Given the description of an element on the screen output the (x, y) to click on. 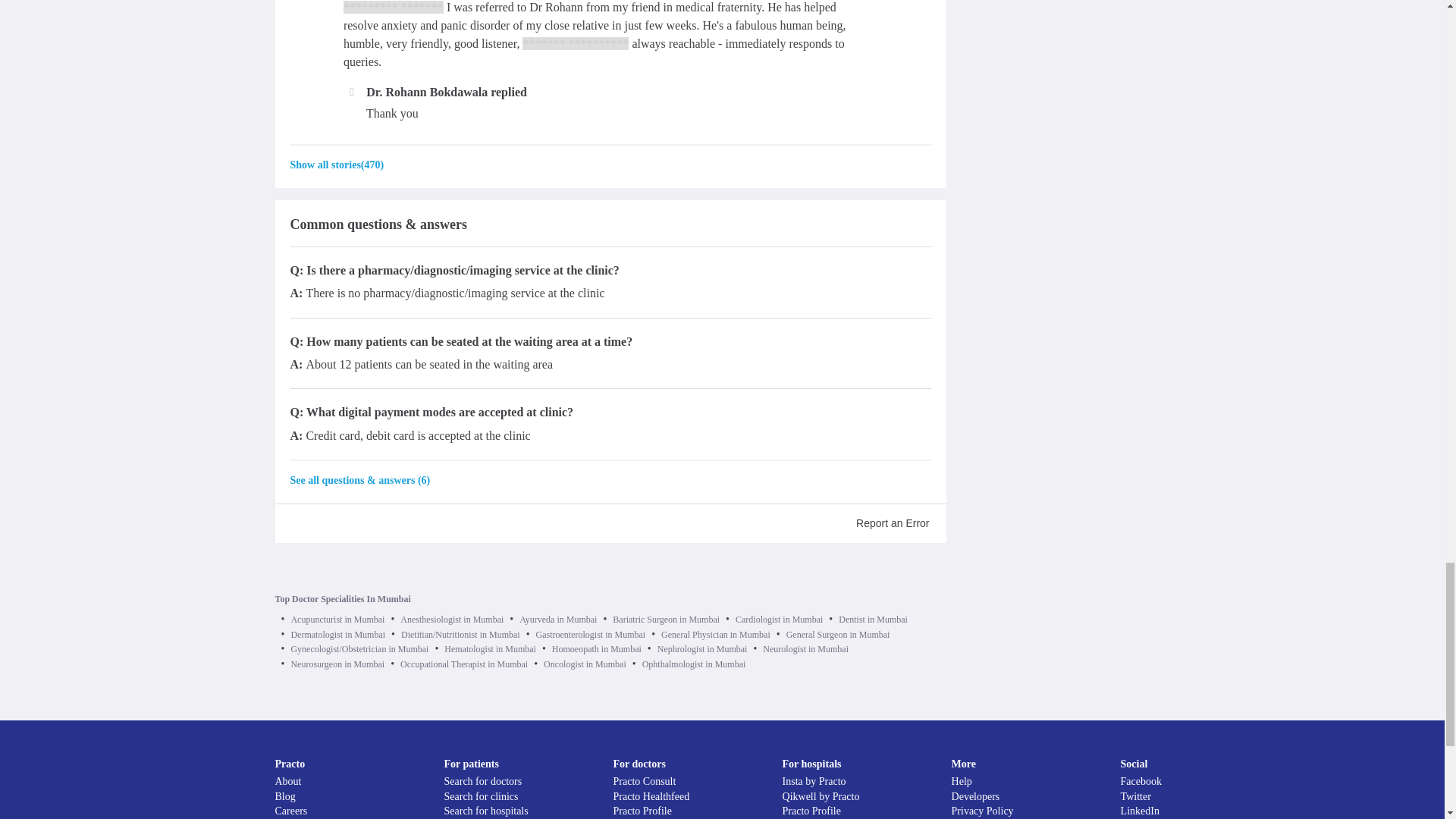
Report an Error (892, 522)
